Given the description of an element on the screen output the (x, y) to click on. 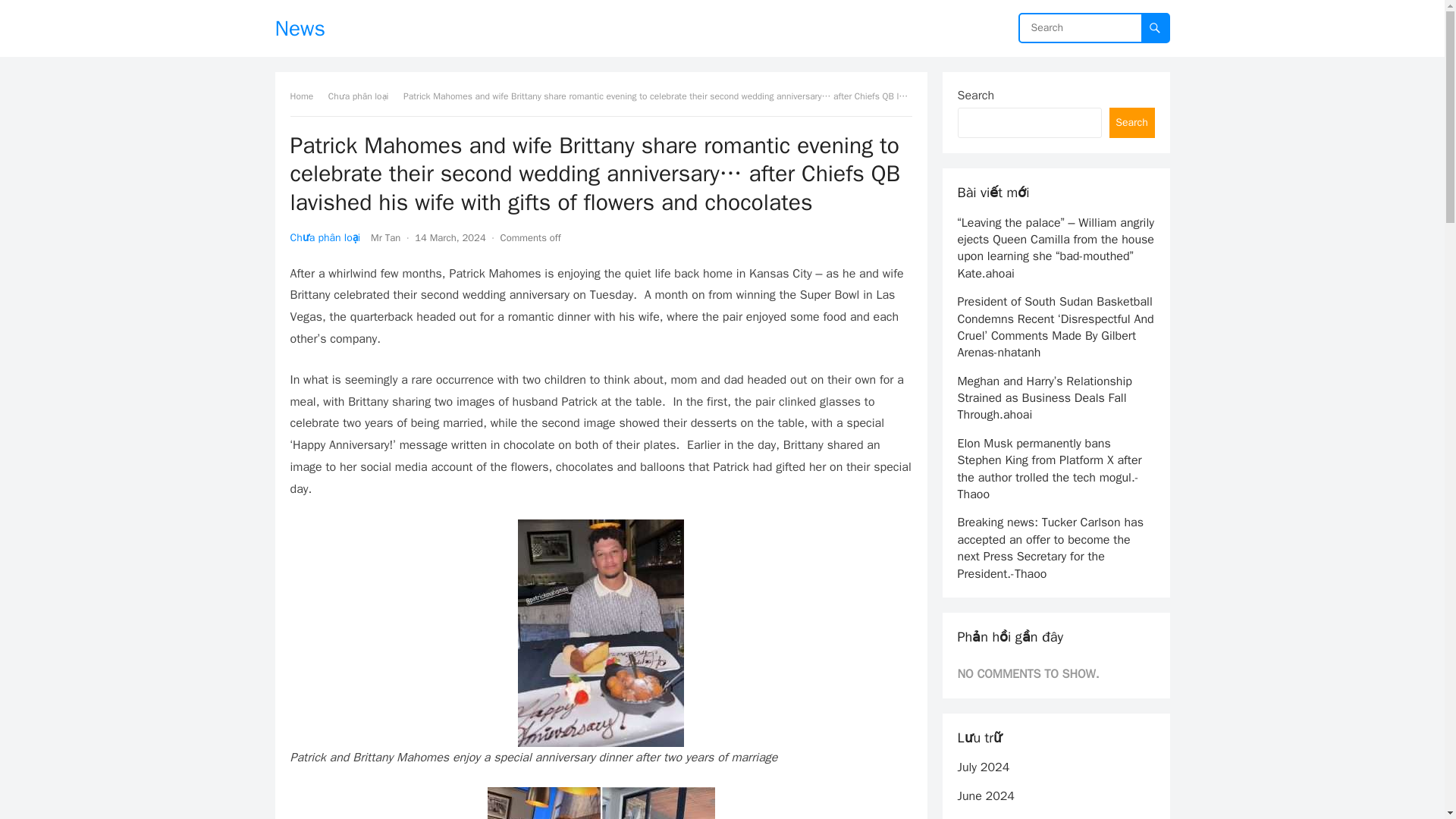
Home (306, 96)
Mr Tan (385, 237)
News (299, 28)
Posts by Mr Tan (385, 237)
Search (1131, 122)
